Given the description of an element on the screen output the (x, y) to click on. 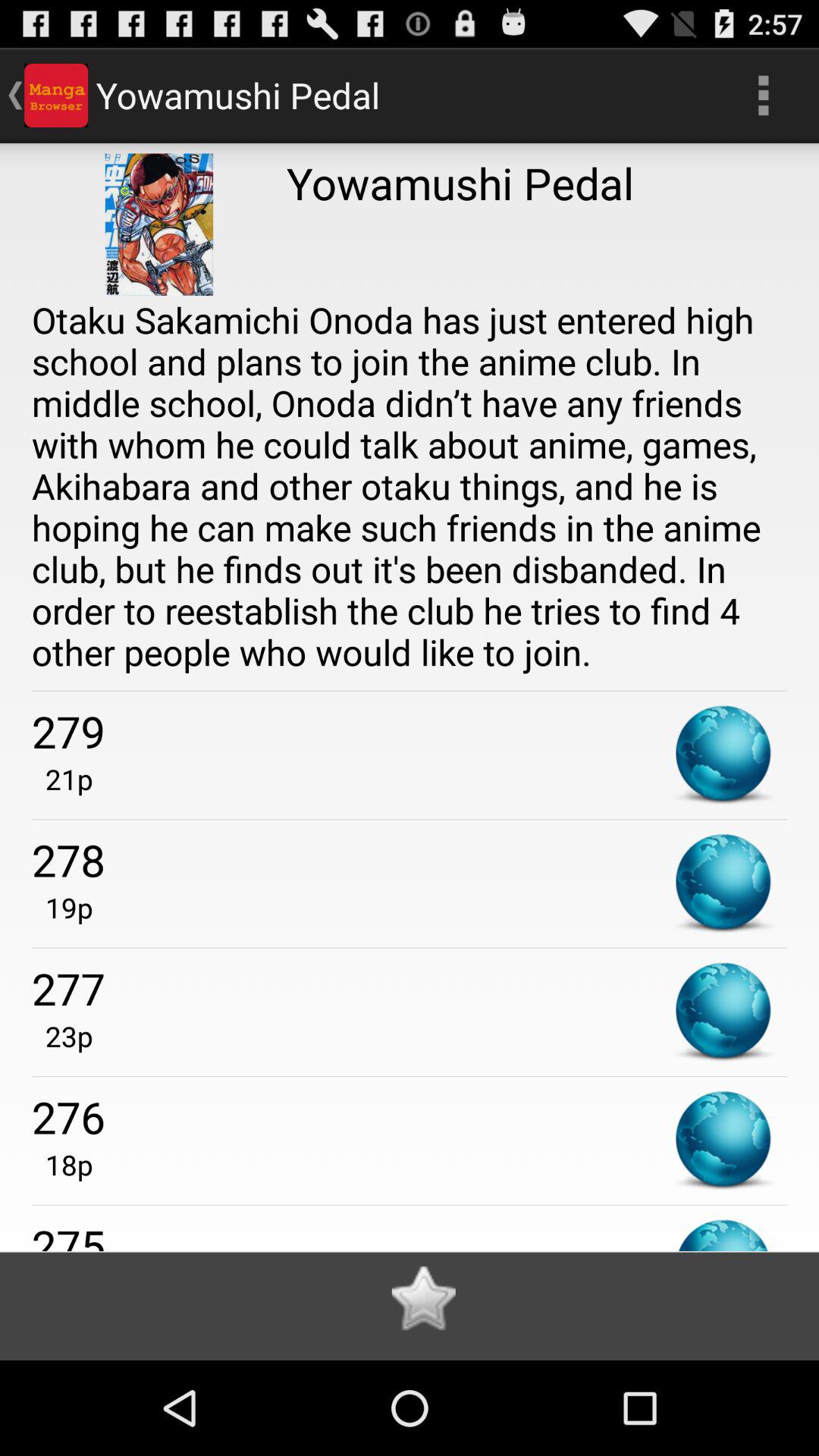
press the   23p app (61, 1036)
